Given the description of an element on the screen output the (x, y) to click on. 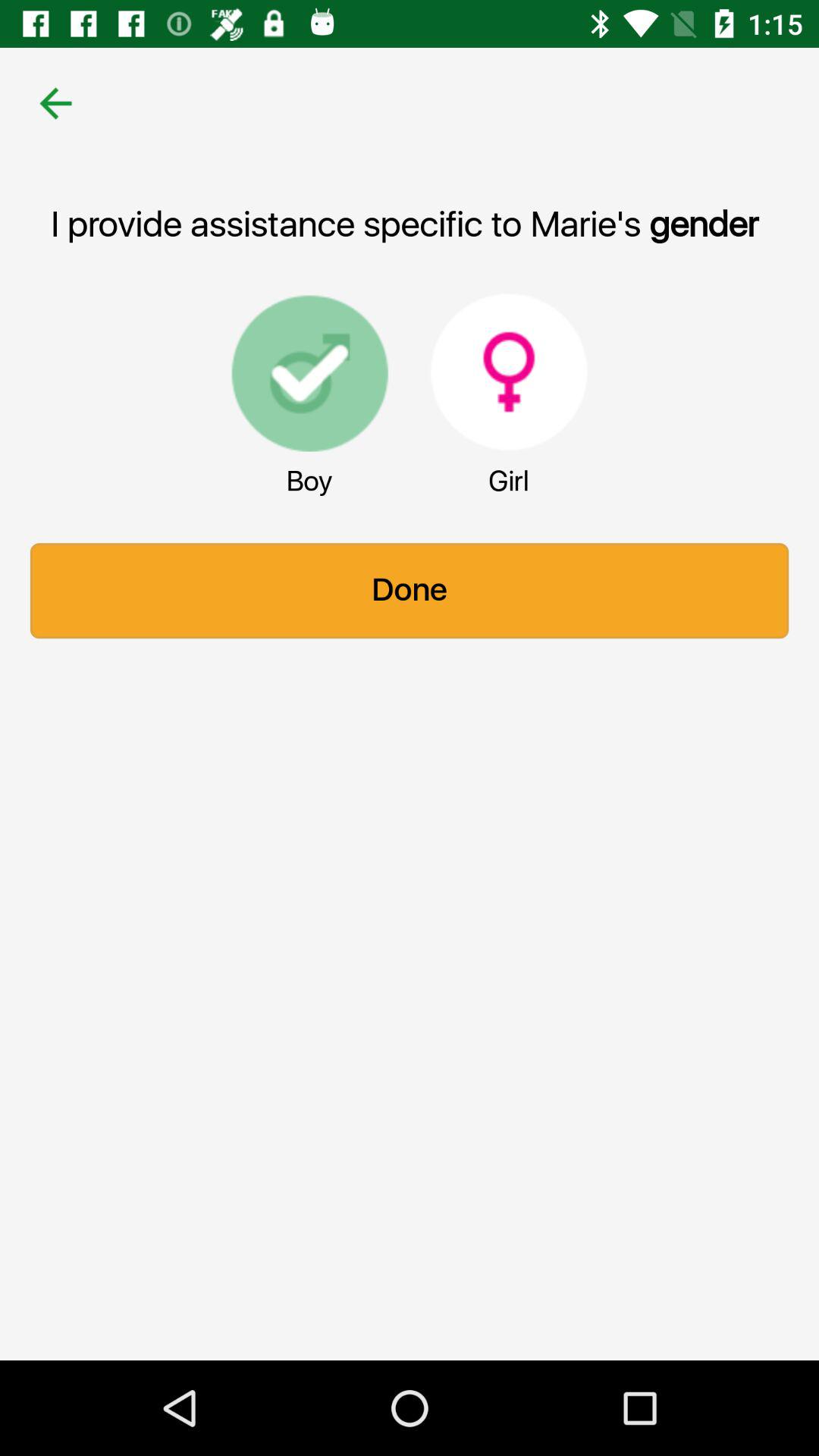
turn on item above i provide assistance item (55, 103)
